Given the description of an element on the screen output the (x, y) to click on. 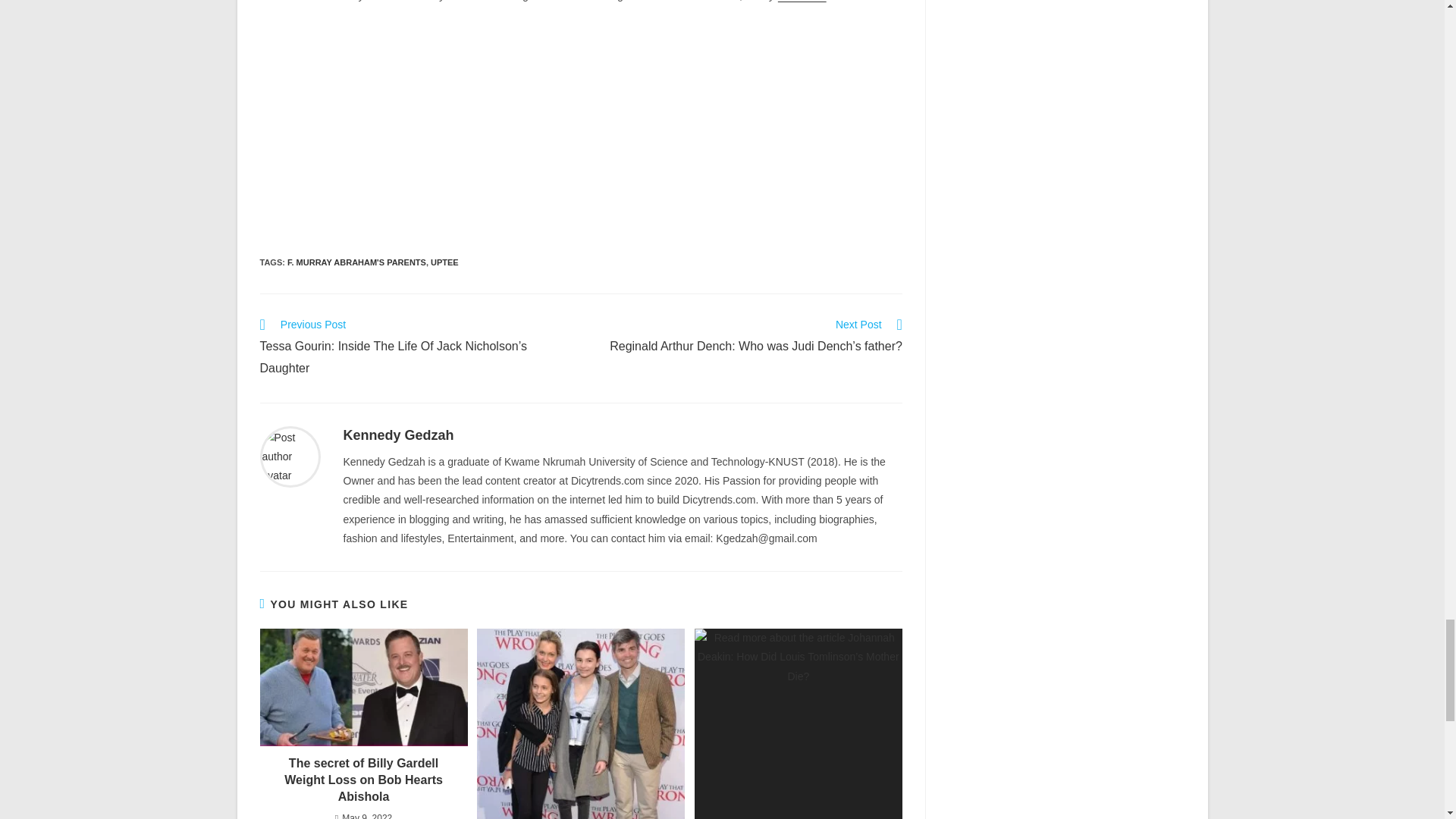
Visit author page (289, 455)
Visit author page (397, 435)
